Given the description of an element on the screen output the (x, y) to click on. 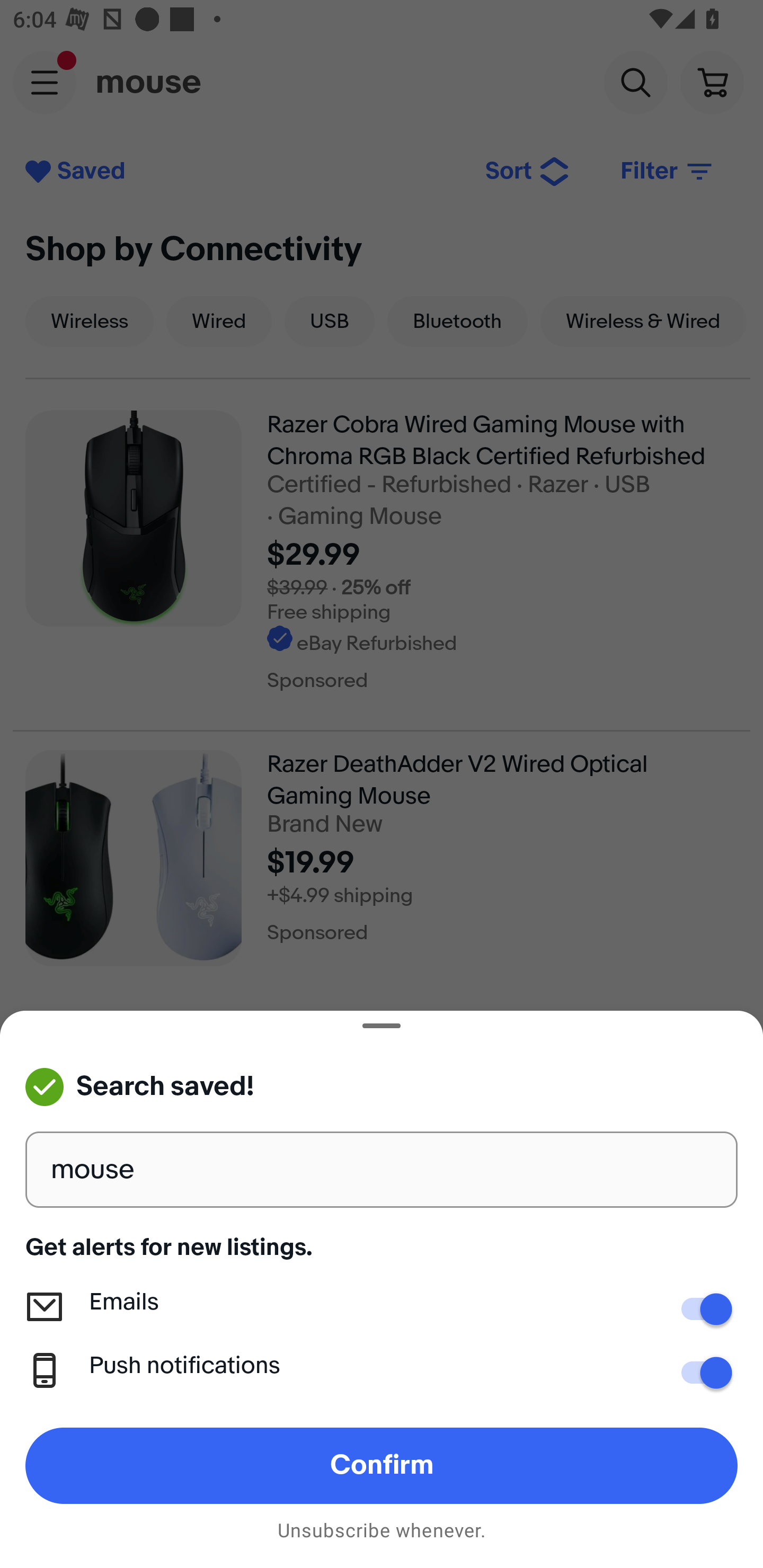
Emails (700, 1309)
Push notifications (700, 1372)
Confirm (381, 1464)
